Given the description of an element on the screen output the (x, y) to click on. 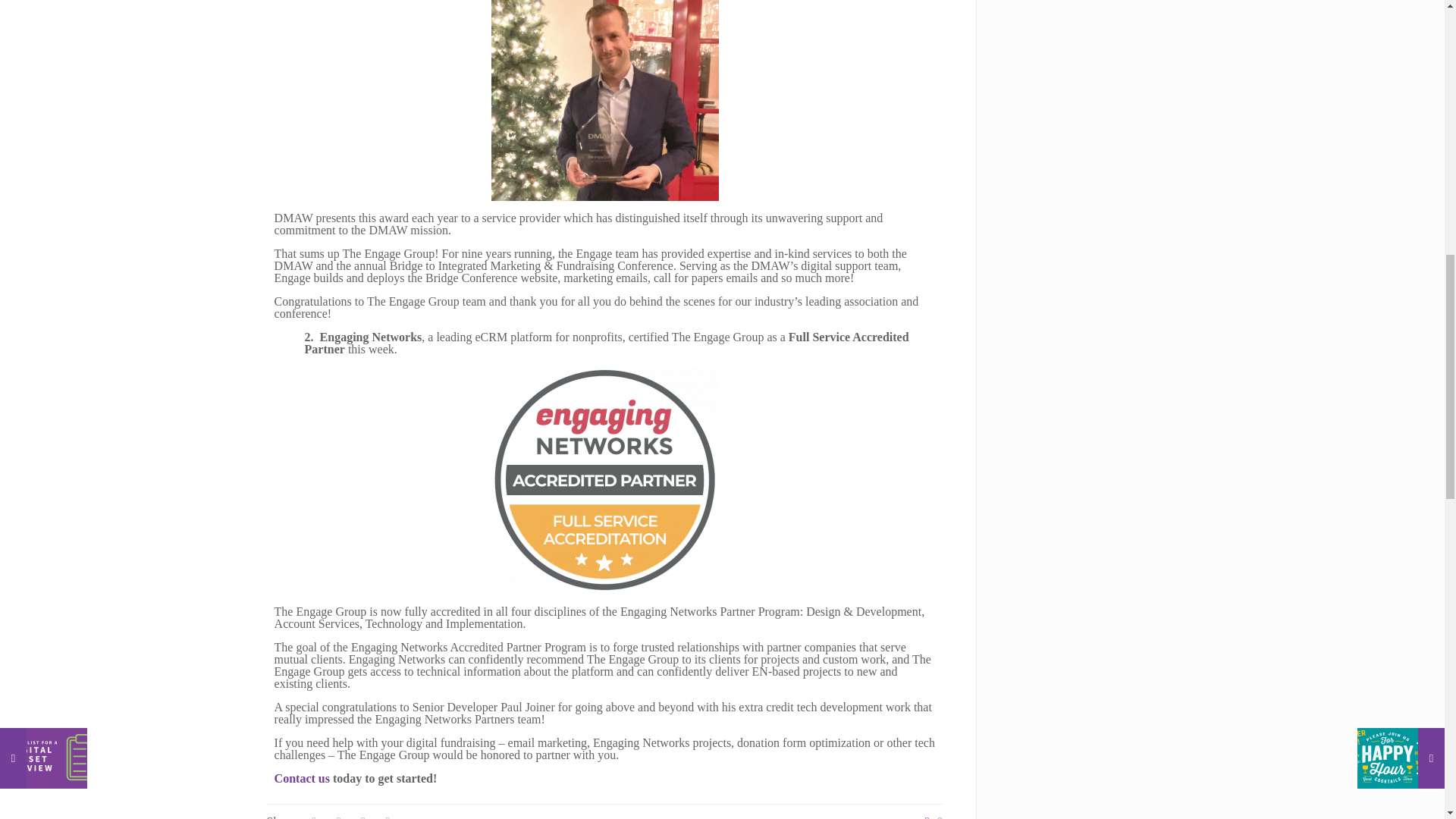
Contact us (302, 778)
0 (930, 817)
